Given the description of an element on the screen output the (x, y) to click on. 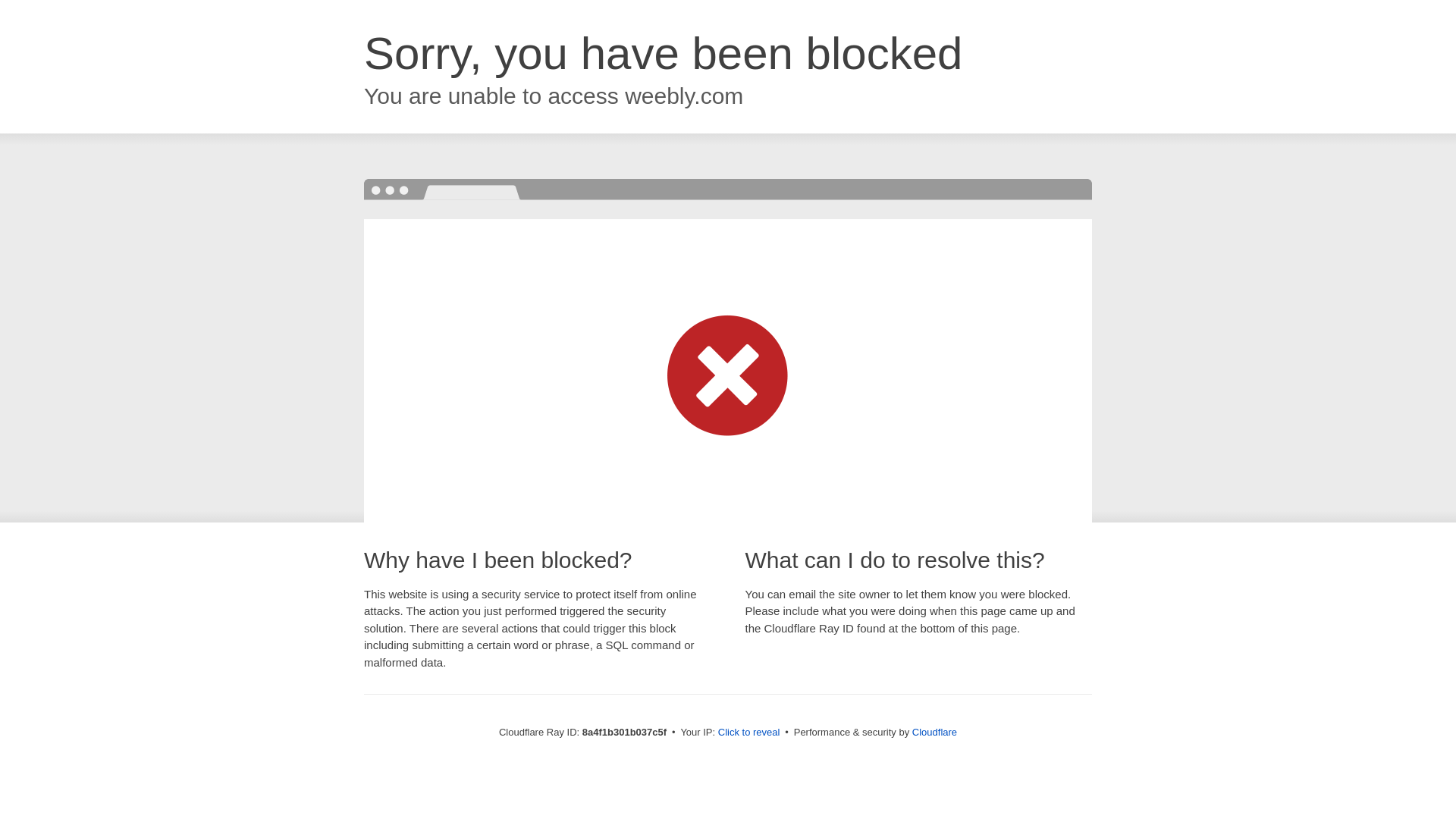
Cloudflare (934, 731)
Click to reveal (748, 732)
